Given the description of an element on the screen output the (x, y) to click on. 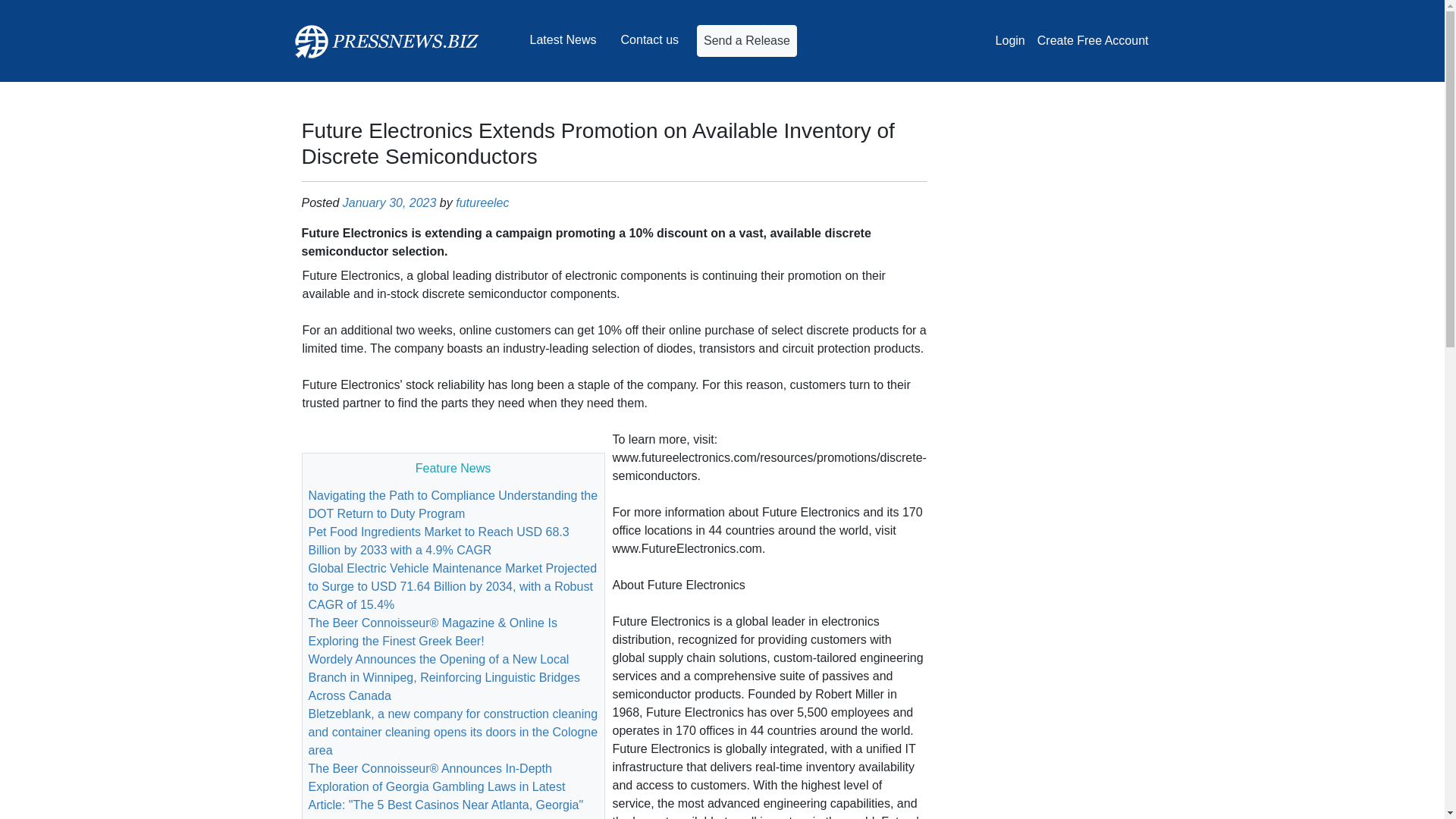
futureelec (481, 202)
Latest News (562, 40)
Send a Release (746, 40)
January 30, 2023 (389, 202)
Login (1010, 40)
Create Free Account (1092, 40)
PFRree (384, 40)
Contact us (649, 40)
